Given the description of an element on the screen output the (x, y) to click on. 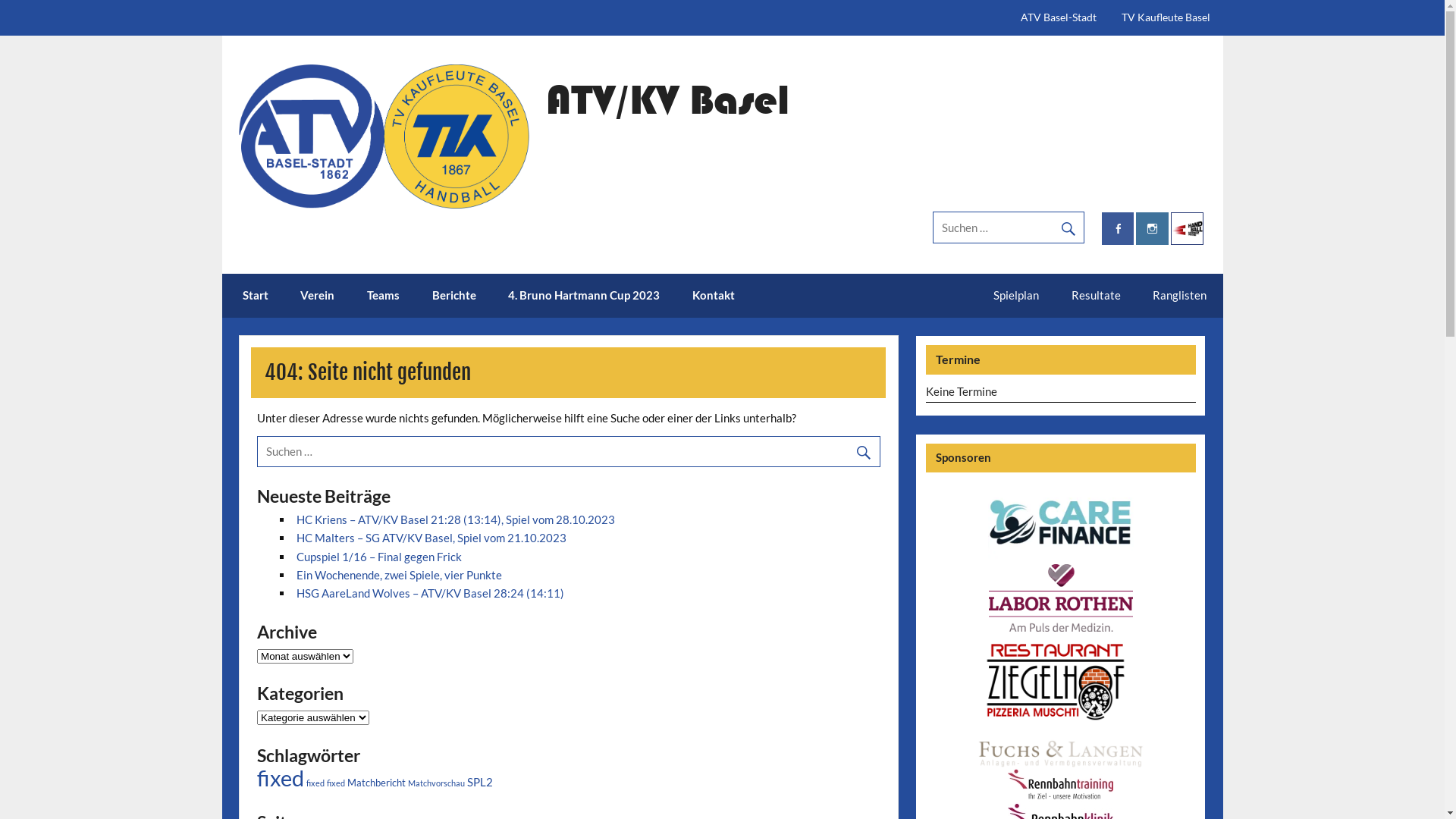
fixed Element type: text (335, 782)
Matchvorschau Element type: text (435, 782)
4. Bruno Hartmann Cup 2023 Element type: text (584, 295)
Resultate Element type: text (1095, 294)
TV Kaufleute Basel Element type: text (1166, 17)
Ein Wochenende, zwei Spiele, vier Punkte Element type: text (399, 574)
ATV/KV Basel Element type: text (667, 99)
fixed Element type: text (280, 777)
Matchbericht Element type: text (376, 782)
Berichte Element type: text (453, 295)
fixed Element type: text (315, 782)
Verein Element type: text (317, 295)
Teams Element type: text (383, 295)
ATV Basel-Stadt Element type: text (1058, 17)
Ranglisten Element type: text (1179, 294)
Spielplan Element type: text (1015, 294)
Start Element type: text (255, 295)
SPL2 Element type: text (479, 781)
Kontakt Element type: text (712, 295)
